Given the description of an element on the screen output the (x, y) to click on. 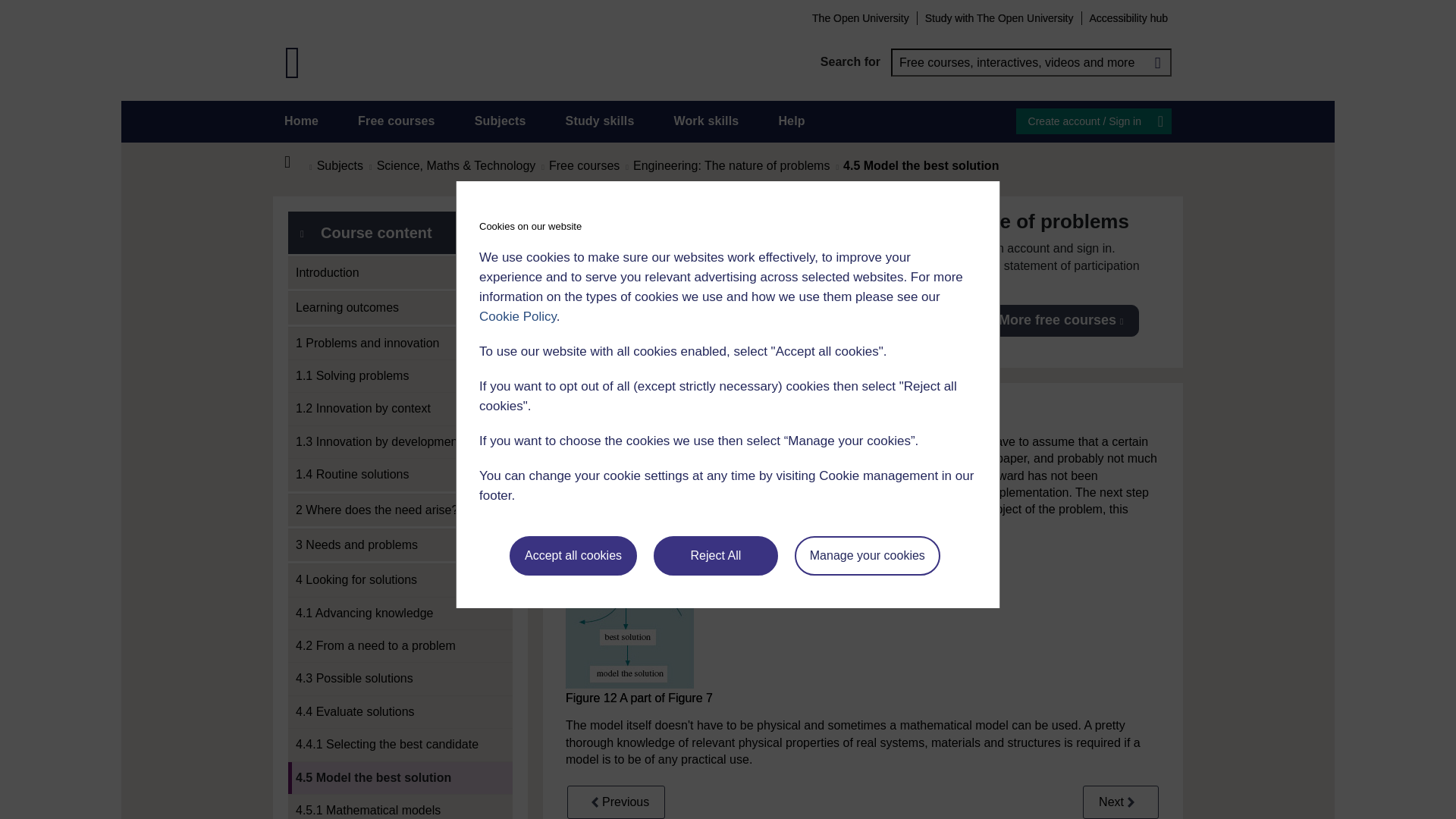
Subjects (499, 120)
Accessibility hub (1129, 17)
Help (791, 120)
Reject All (715, 555)
Cookie Policy (517, 316)
The Open University (860, 17)
Search (1157, 62)
Home (300, 120)
Manage your cookies (867, 555)
Accept all cookies (573, 555)
